Given the description of an element on the screen output the (x, y) to click on. 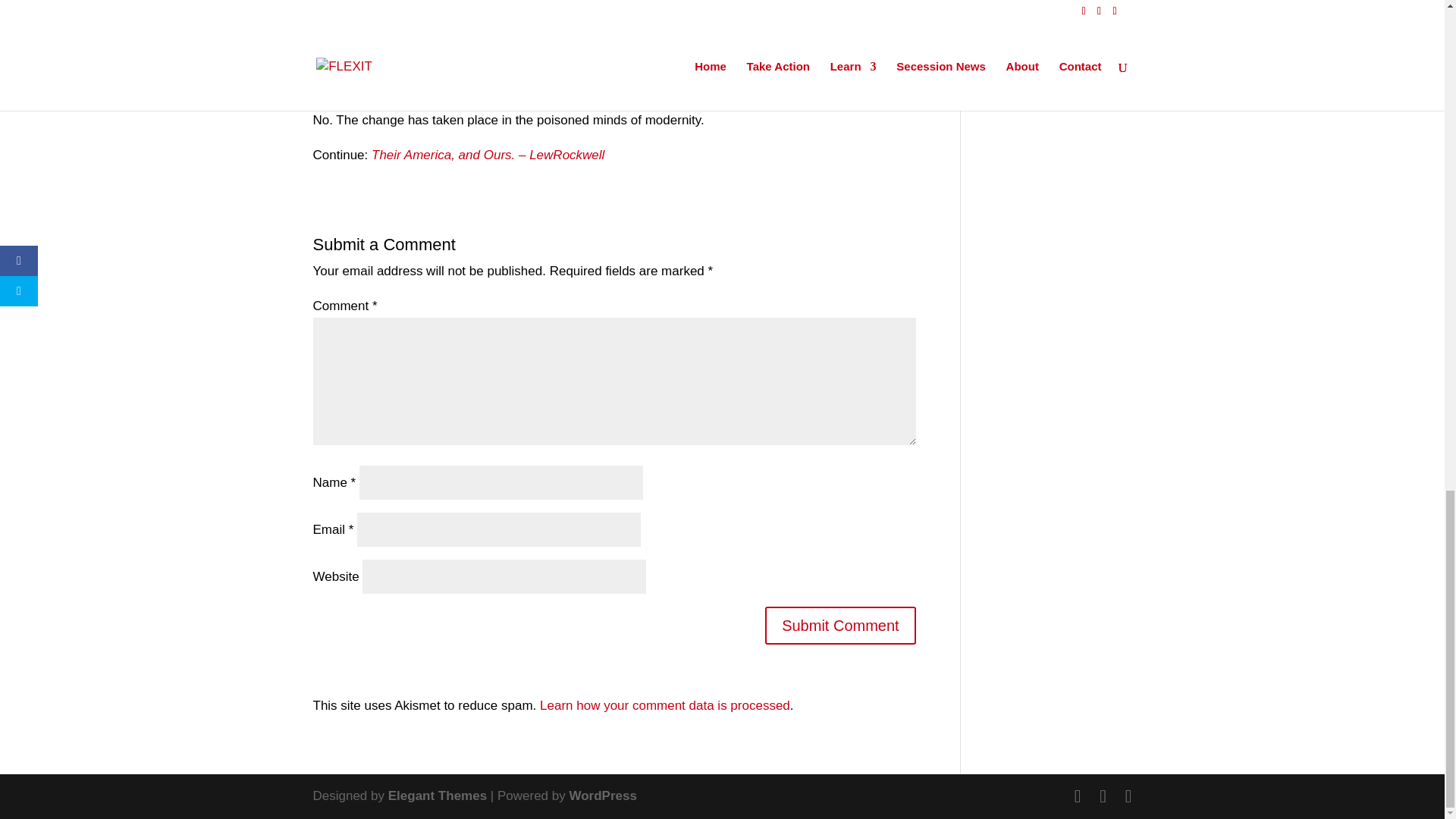
Premium WordPress Themes (437, 795)
Submit Comment (840, 625)
Learn how your comment data is processed (665, 705)
Submit Comment (840, 625)
